Given the description of an element on the screen output the (x, y) to click on. 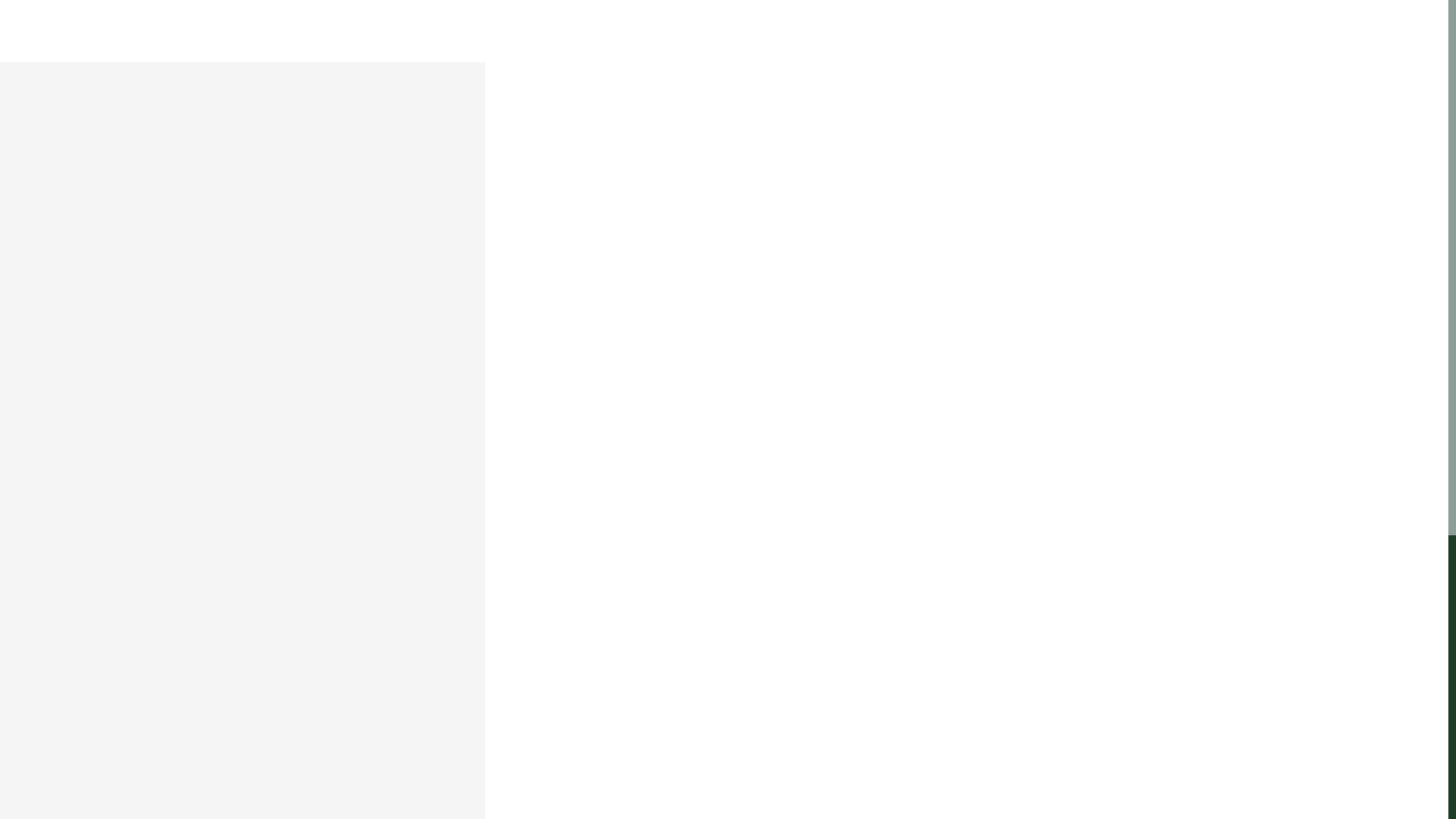
Corporate Governance (465, 48)
Noewe Legal (723, 48)
Management Consulting (847, 48)
Wealth Management (988, 48)
